Given the description of an element on the screen output the (x, y) to click on. 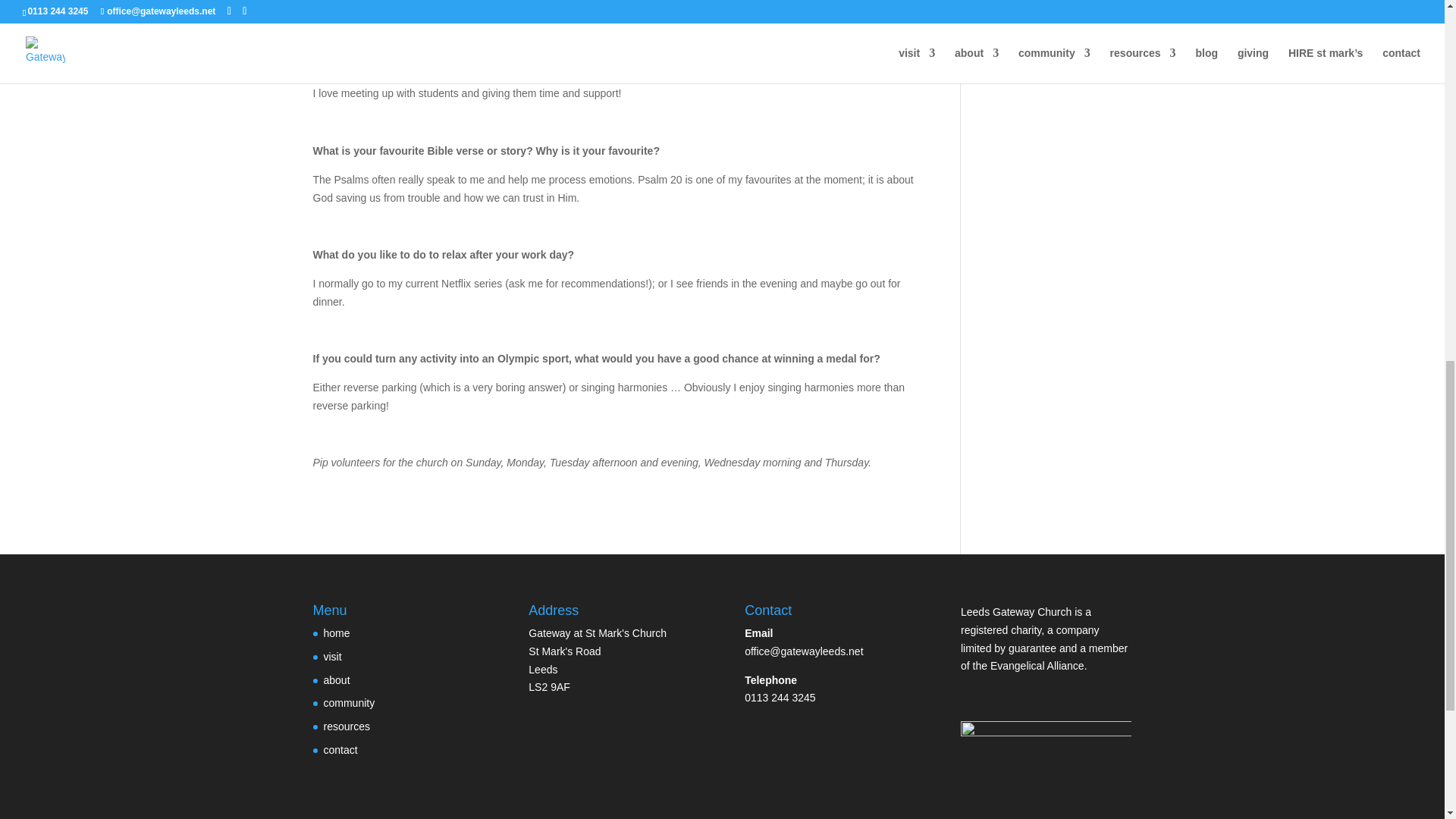
resources (346, 726)
about (336, 680)
community (348, 702)
home (336, 633)
contact (339, 749)
visit (331, 656)
